Given the description of an element on the screen output the (x, y) to click on. 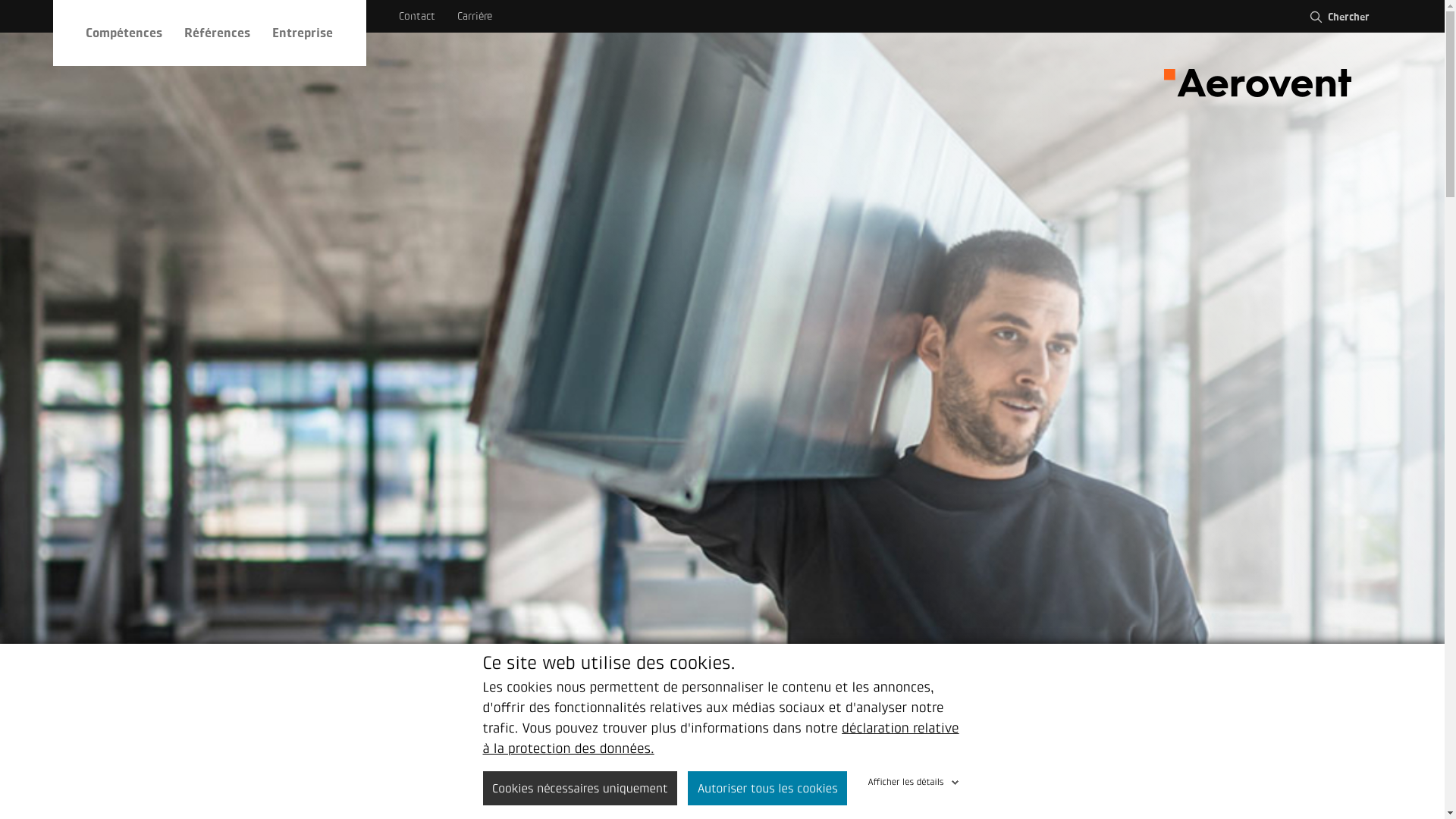
Contact Element type: text (416, 16)
Autoriser tous les cookies Element type: text (767, 788)
Chercher Element type: text (1338, 16)
Entreprise Element type: text (302, 32)
